Given the description of an element on the screen output the (x, y) to click on. 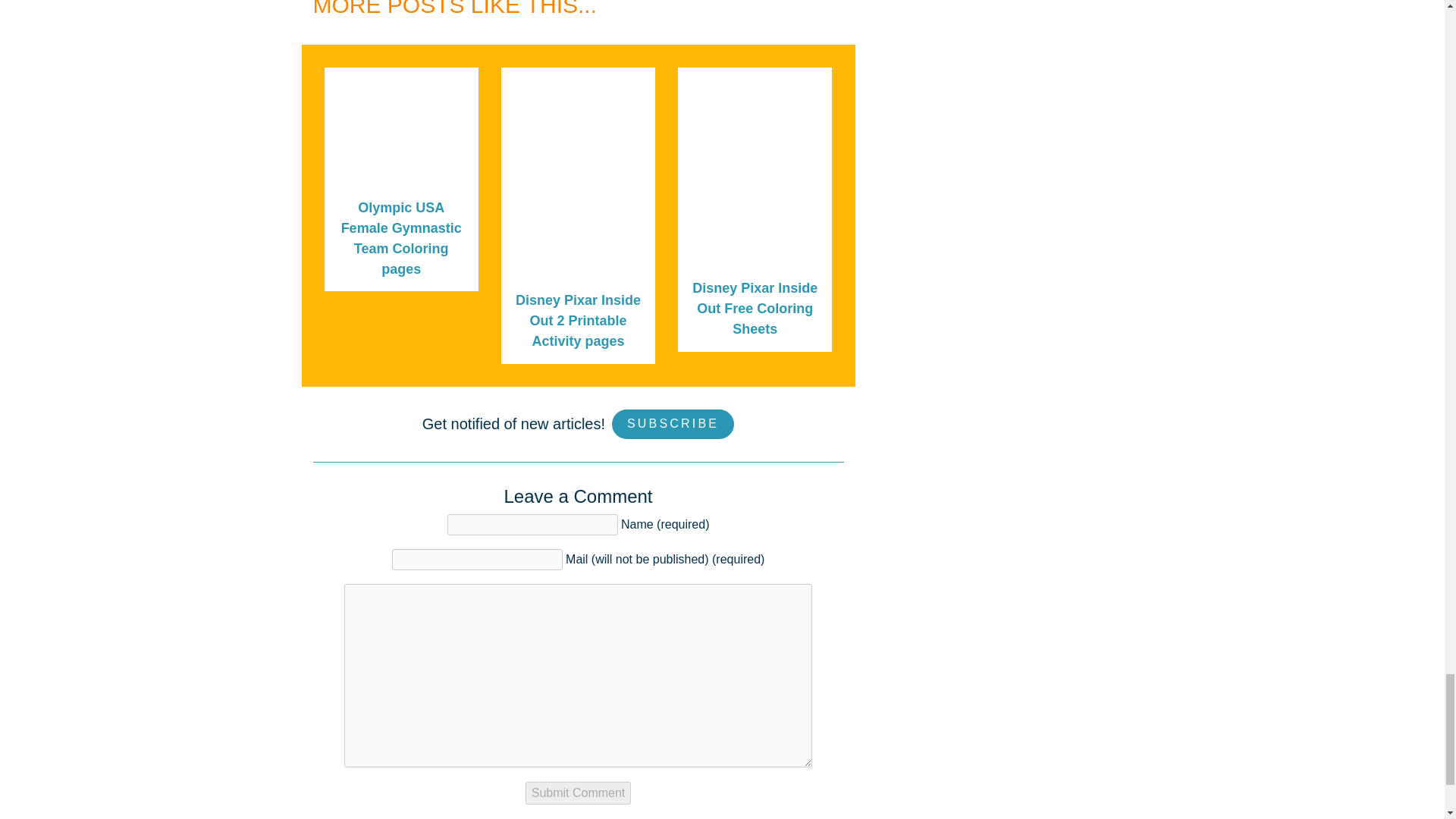
Disney Pixar Inside Out 2 Printable Activity pages (577, 320)
Disney Pixar Inside Out Free Coloring Sheets (754, 308)
SUBSCRIBE (672, 423)
Submit Comment (578, 793)
Olympic USA Female Gymnastic Team Coloring pages (400, 237)
